Given the description of an element on the screen output the (x, y) to click on. 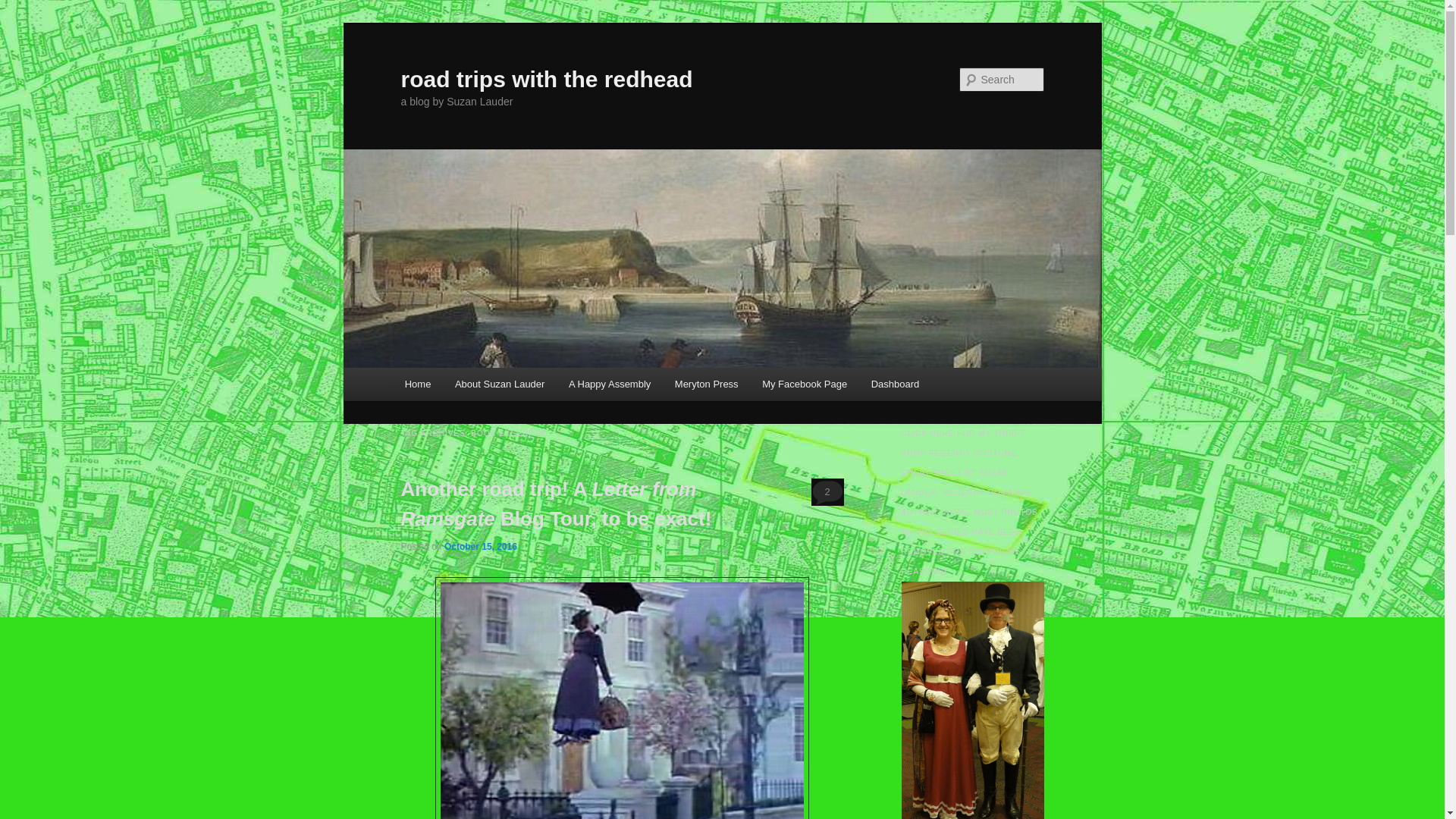
A Happy Assembly (609, 383)
Search (24, 8)
October 15, 2016 (480, 546)
Dashboard (895, 383)
Home (417, 383)
About Suzan Lauder (499, 383)
road trips with the redhead (546, 78)
2 (827, 492)
